Given the description of an element on the screen output the (x, y) to click on. 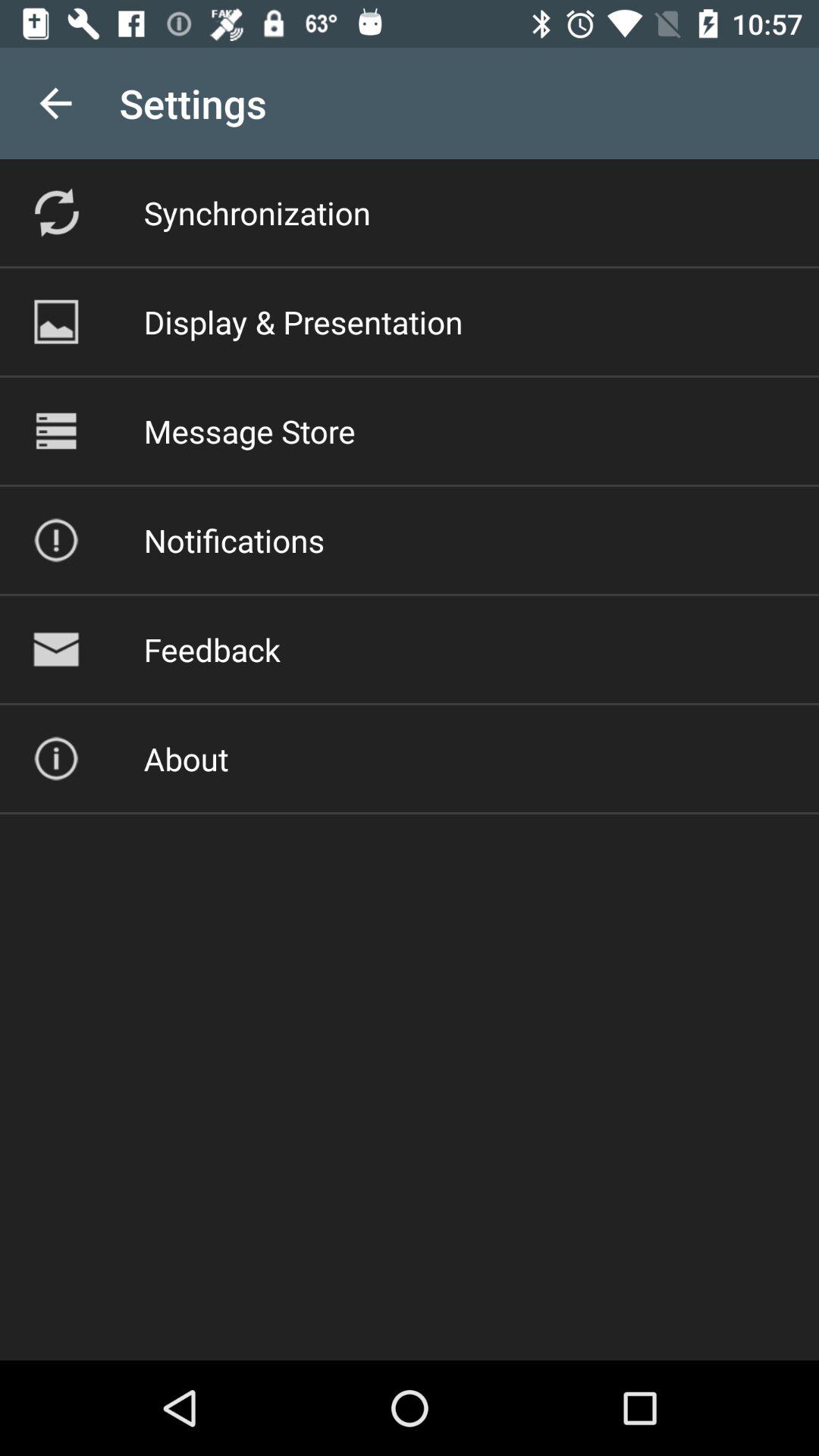
jump until about item (185, 758)
